Given the description of an element on the screen output the (x, y) to click on. 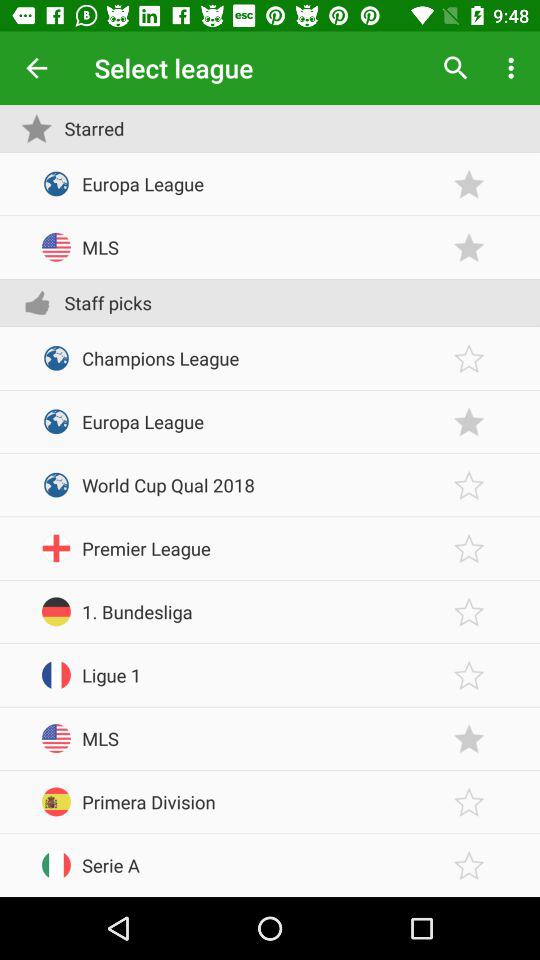
open item next to select league (36, 68)
